Given the description of an element on the screen output the (x, y) to click on. 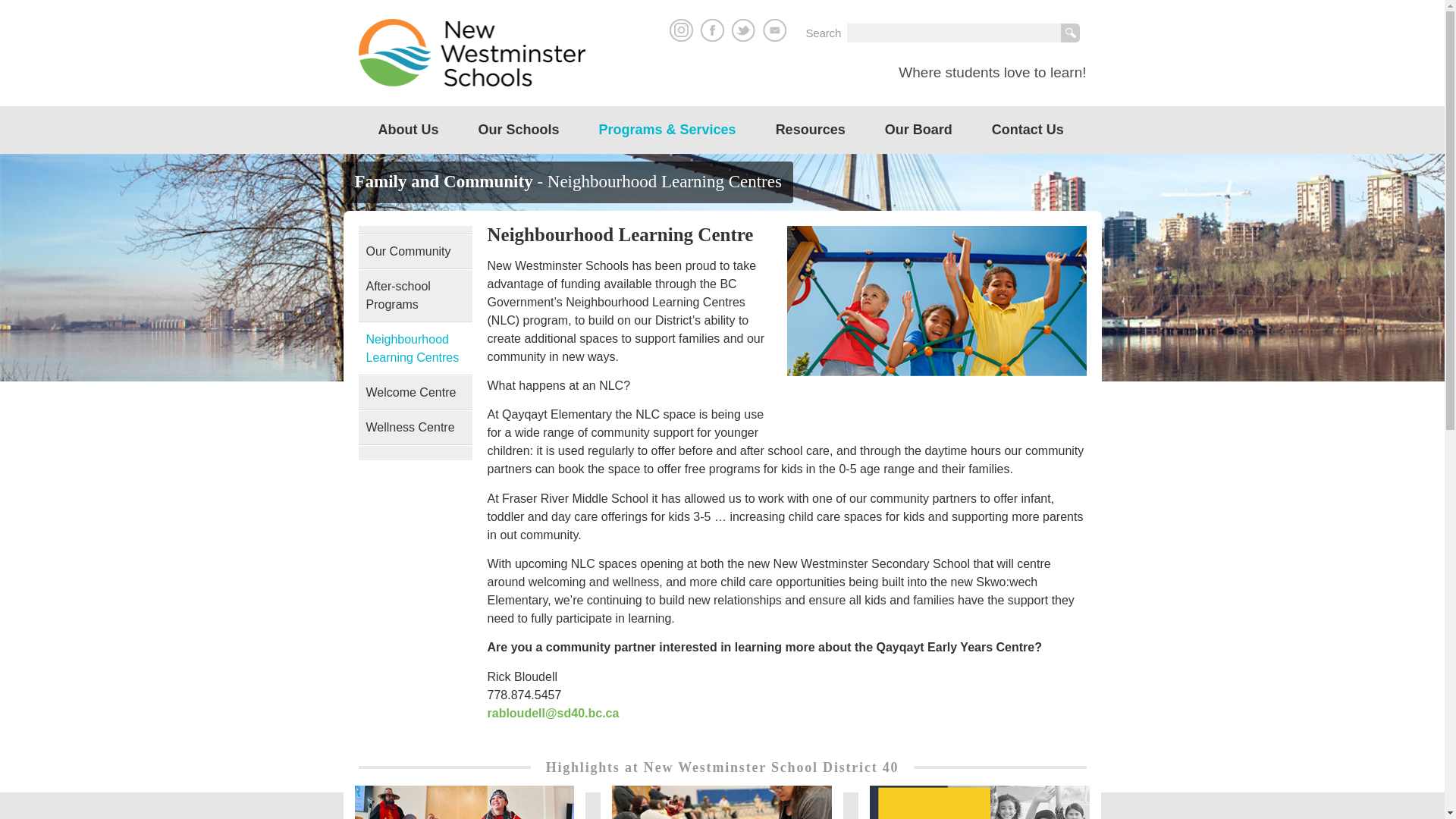
Search (1070, 32)
Our Schools (518, 129)
Facebook (711, 29)
Email (774, 29)
Instagram (681, 29)
Twitter (743, 29)
About Us (408, 129)
Our Schools (518, 129)
About Us (408, 129)
